Given the description of an element on the screen output the (x, y) to click on. 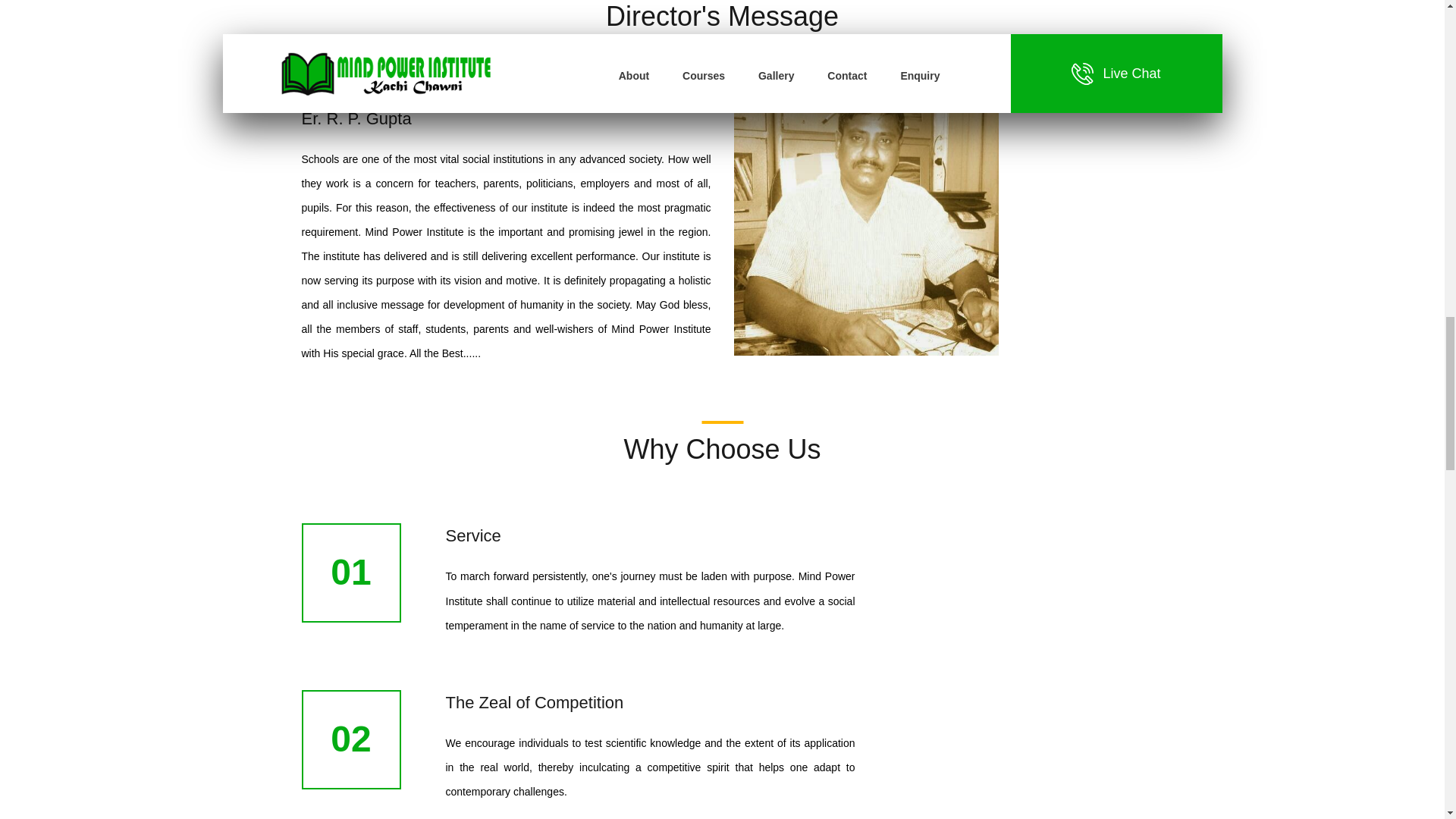
Er. R. P. Gupta (356, 117)
The Zeal of Competition (534, 701)
Service (472, 535)
